Given the description of an element on the screen output the (x, y) to click on. 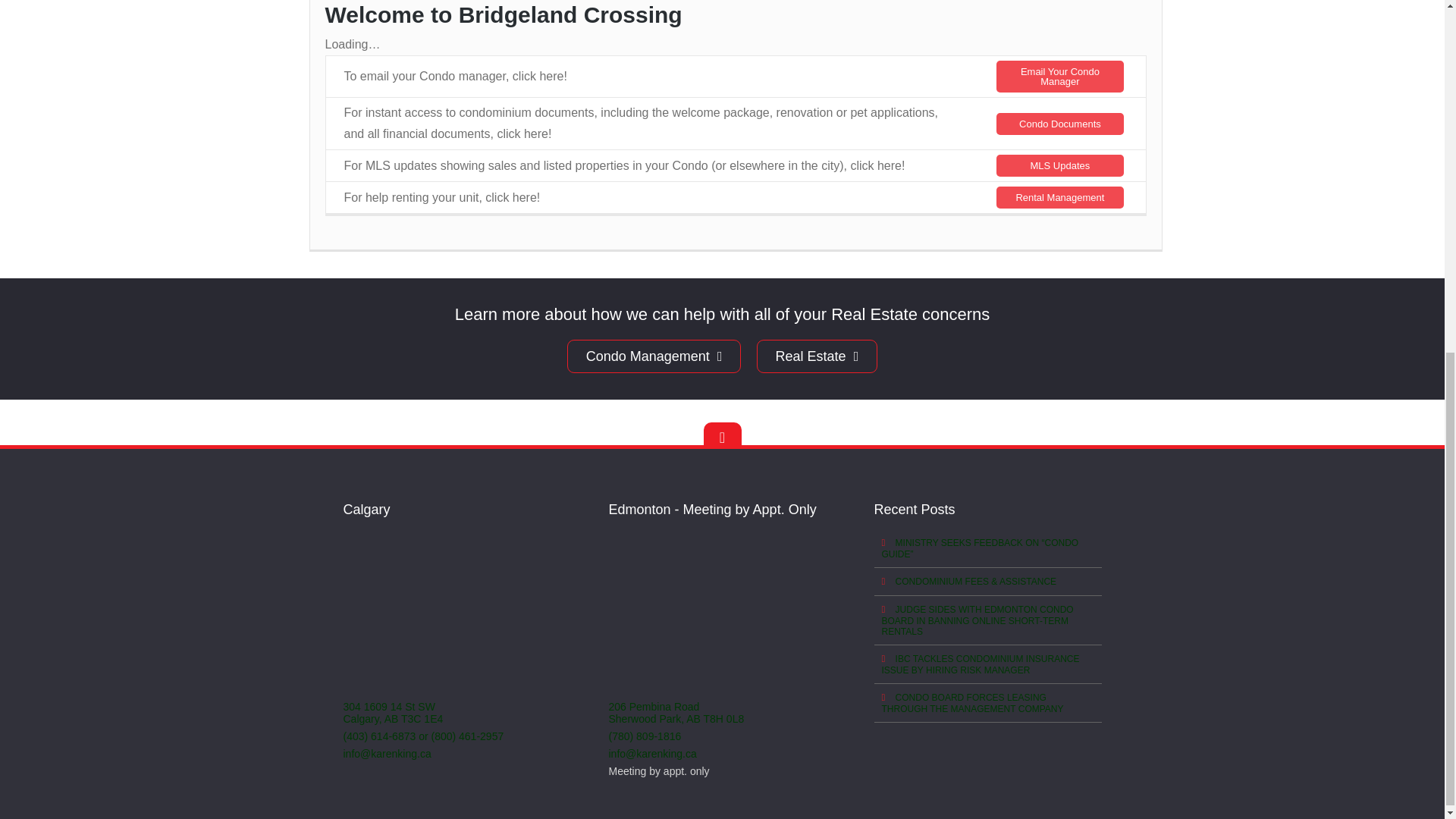
Email Your Condo Manager (1058, 76)
Condo Documents (1058, 124)
CONDO BOARD FORCES LEASING THROUGH THE MANAGEMENT COMPANY (986, 702)
Condo Management (654, 356)
Real Estate (817, 356)
Rental Management (1058, 197)
MLS Updates (1058, 165)
